Given the description of an element on the screen output the (x, y) to click on. 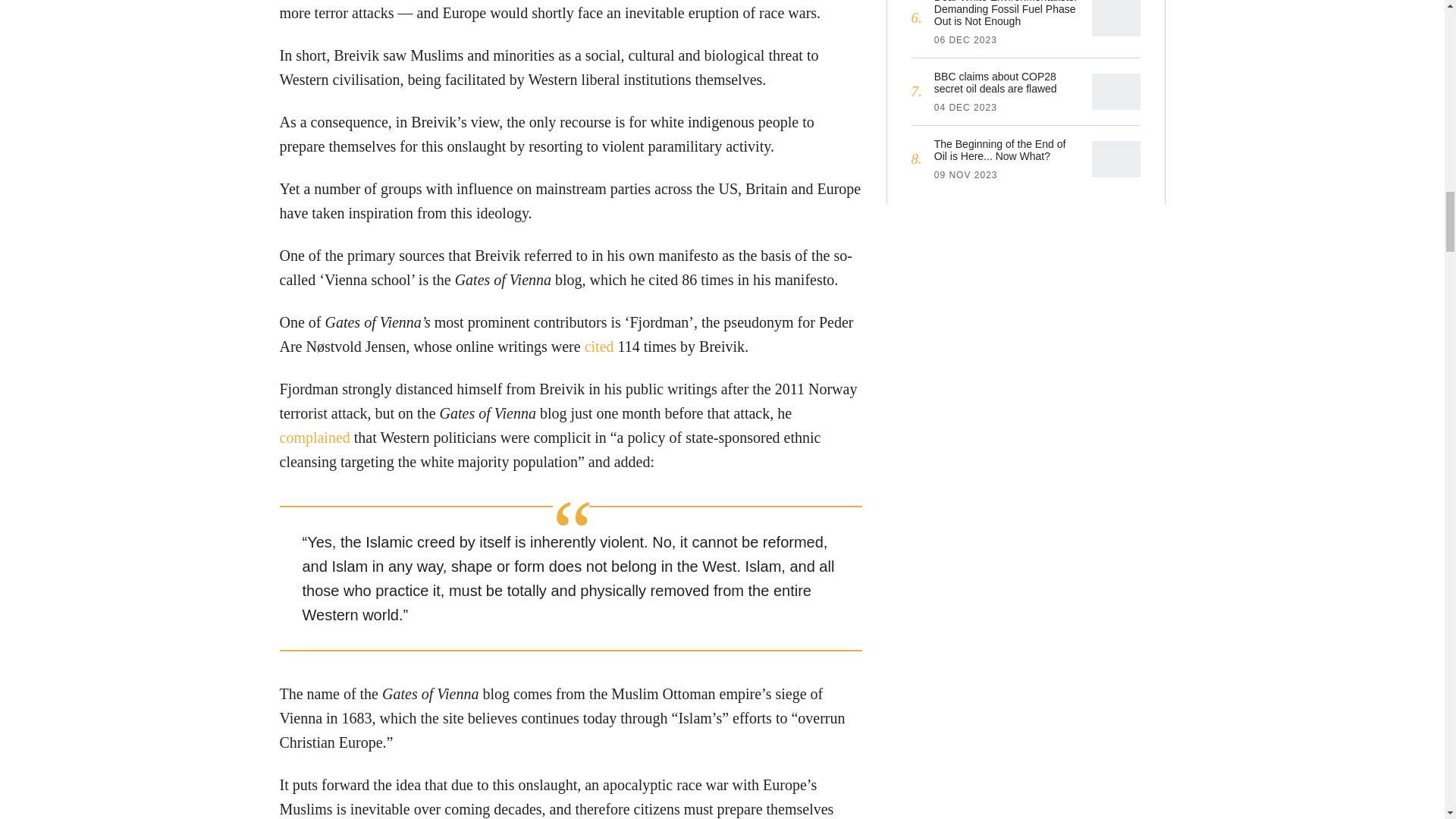
06 December 2023 (965, 40)
cited (599, 347)
complained (314, 438)
